Given the description of an element on the screen output the (x, y) to click on. 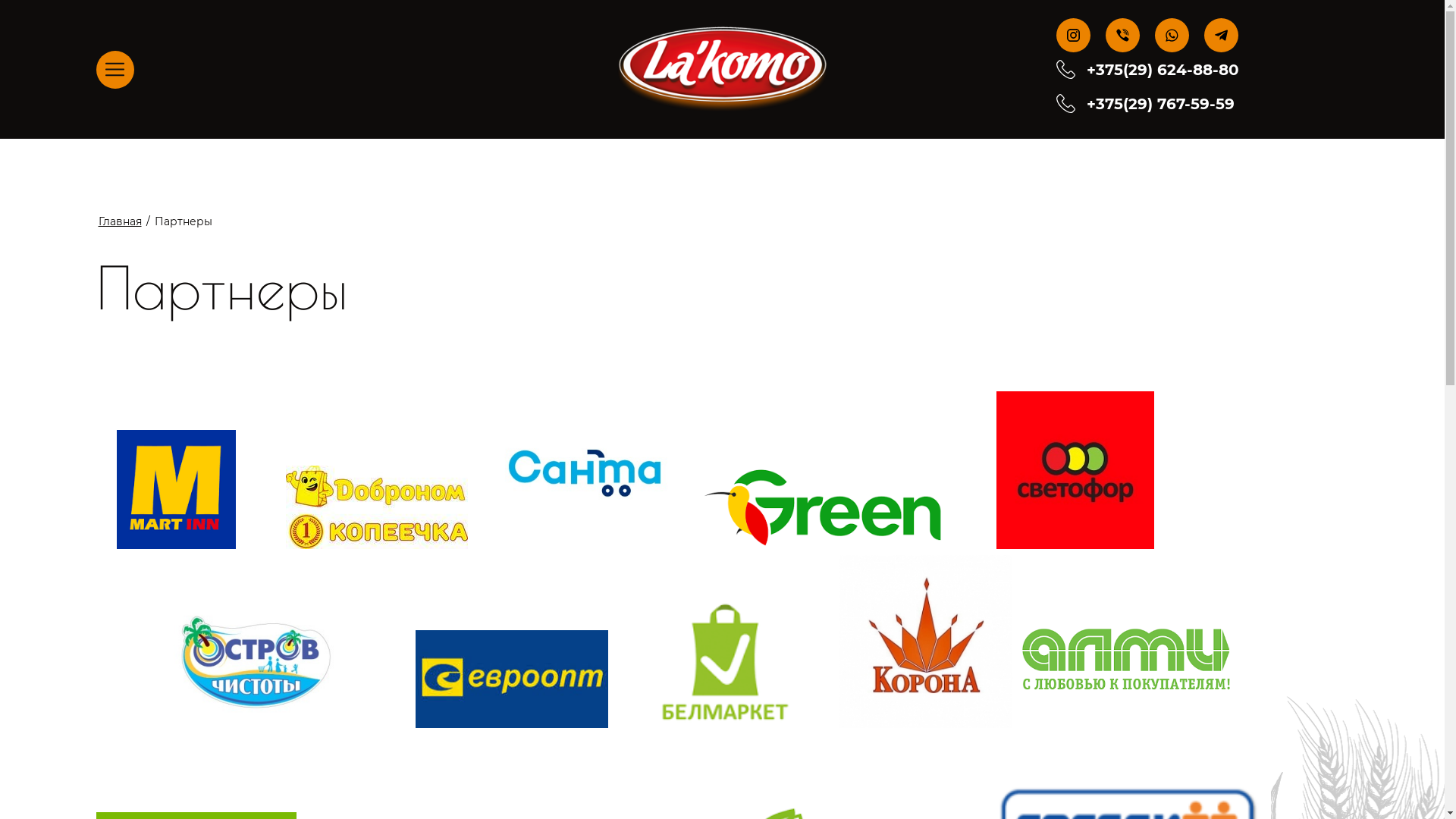
+375(29) 767-59-59 Element type: text (1160, 103)
+375(29) 624-88-80 Element type: text (1162, 69)
